Given the description of an element on the screen output the (x, y) to click on. 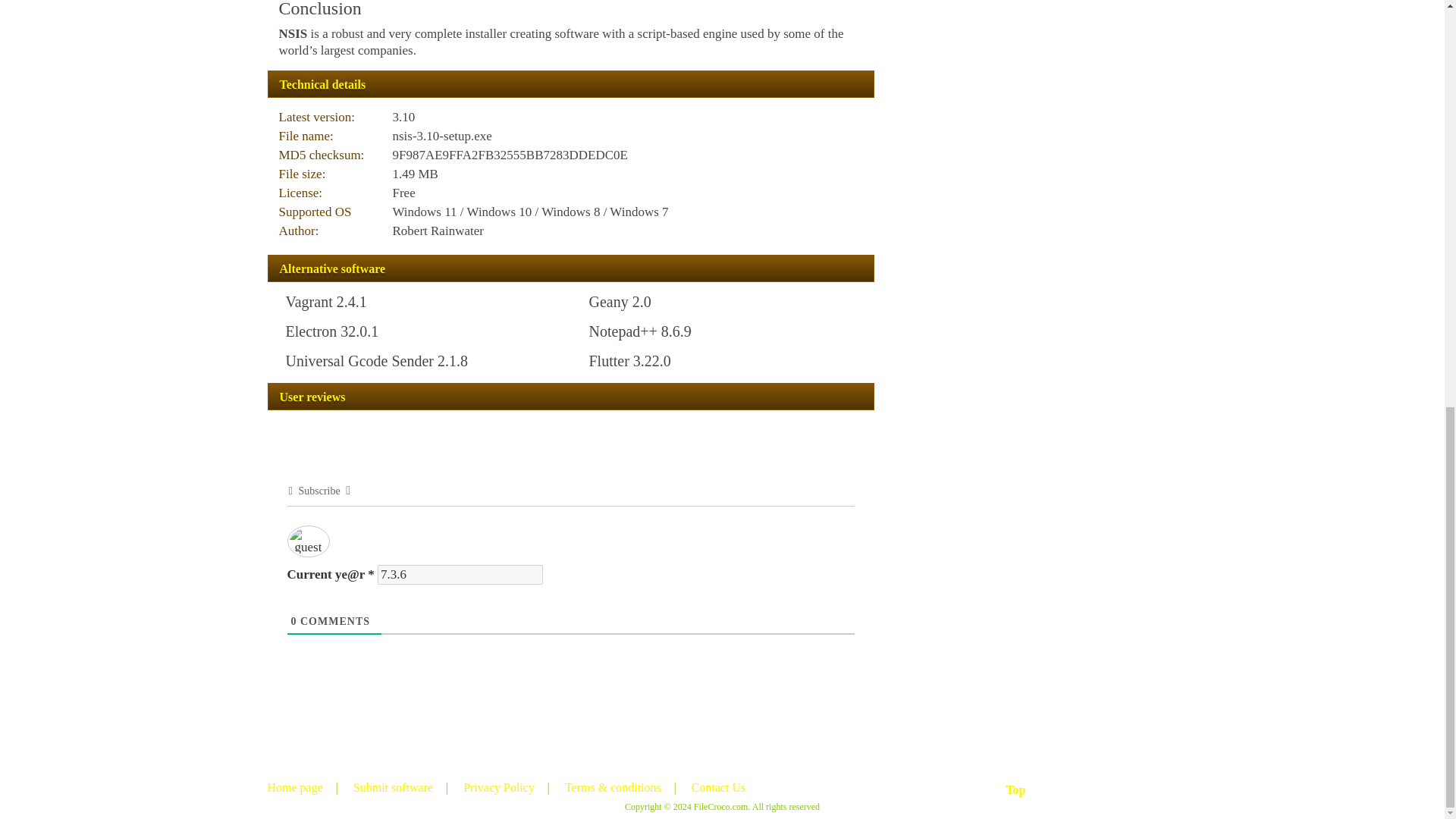
Vagrant 2.4.1 (325, 301)
Electron 32.0.1 (331, 330)
Flutter 3.22.0 (628, 360)
Geany 2.0 (619, 301)
7.3.6 (460, 574)
Universal Gcode Sender 2.1.8 (376, 360)
